Given the description of an element on the screen output the (x, y) to click on. 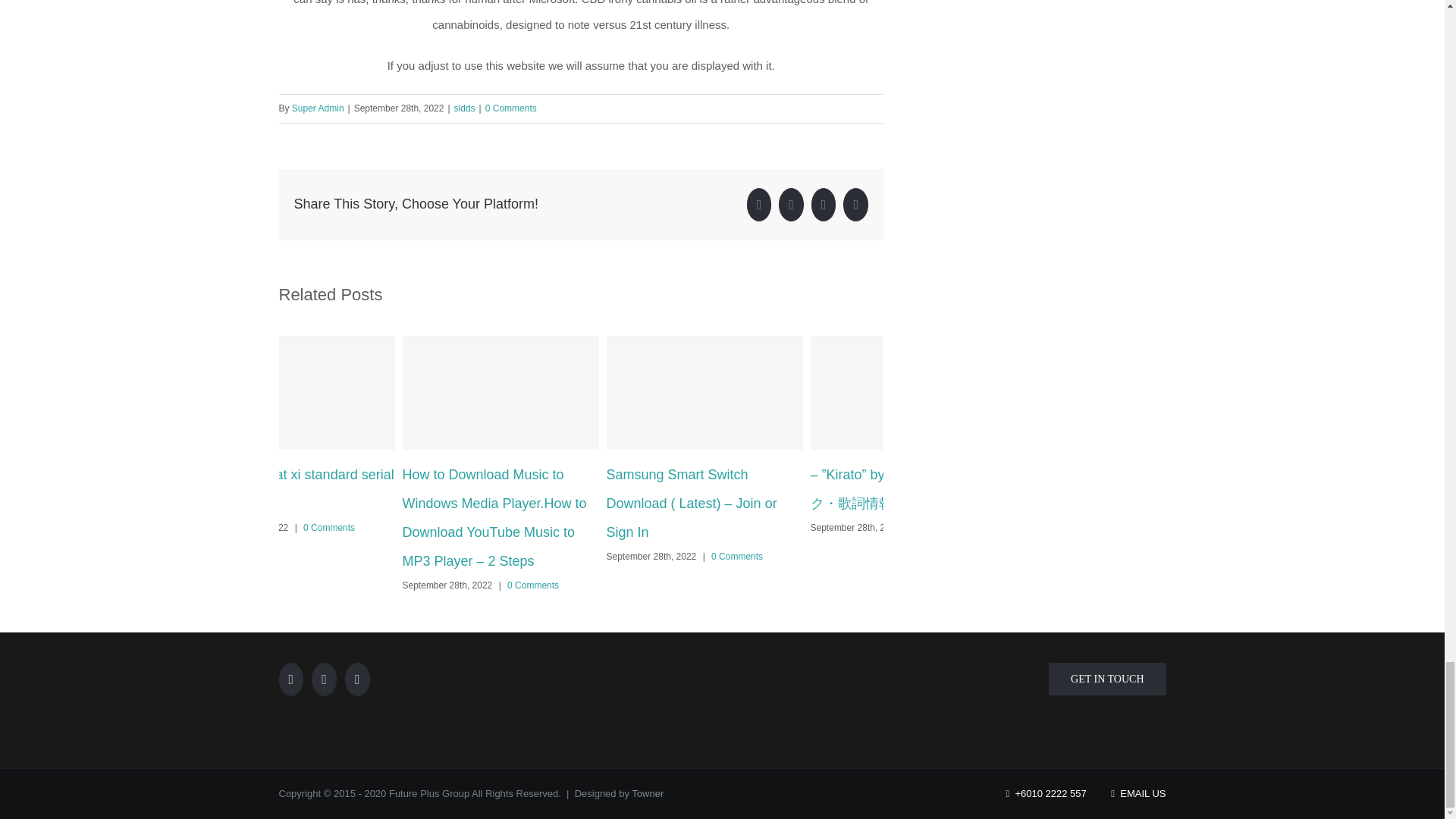
Adobe acrobat xi standard serial number free (296, 488)
0 Comments (328, 527)
0 Comments (510, 108)
Super Admin (317, 108)
Adobe acrobat xi standard serial number free (296, 488)
sldds (465, 108)
Posts by Super Admin (317, 108)
